Given the description of an element on the screen output the (x, y) to click on. 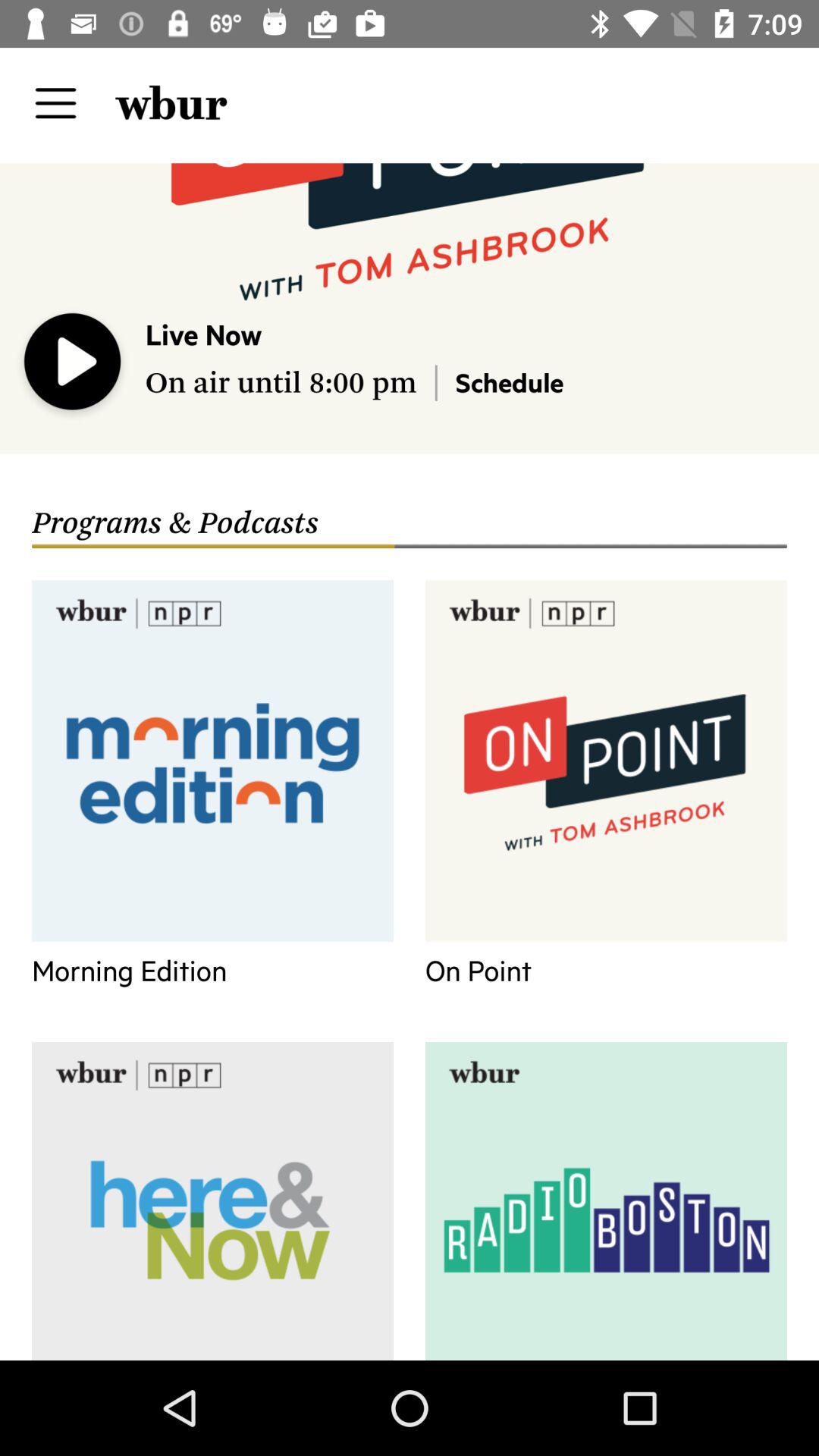
click the icon to the left of live now (72, 365)
